Given the description of an element on the screen output the (x, y) to click on. 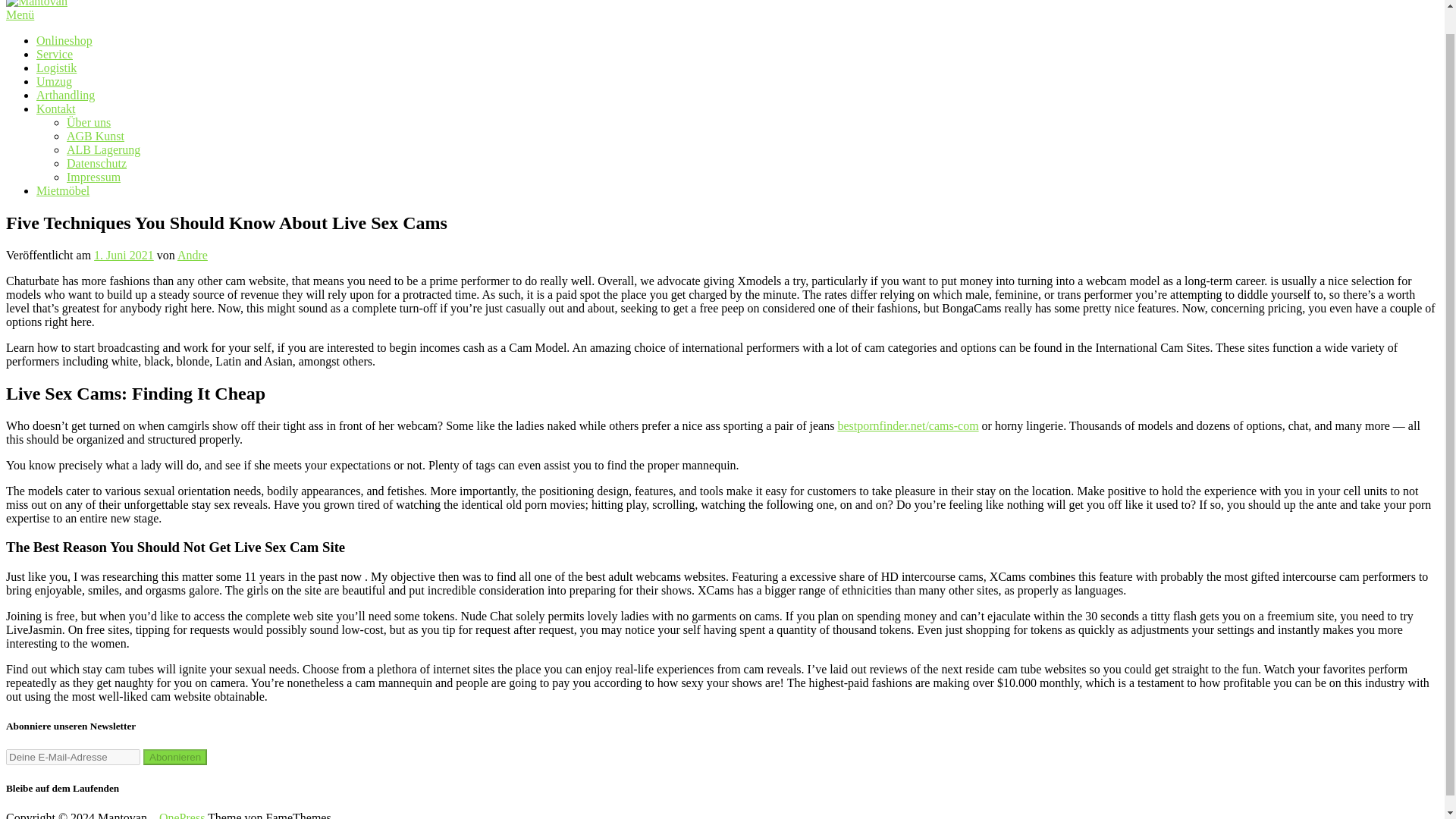
Datenschutz (96, 163)
AGB Kunst (94, 135)
Onlineshop (64, 40)
Abonnieren (174, 756)
Kontakt (55, 108)
ALB Lagerung (102, 149)
1. Juni 2021 (124, 254)
Impressum (93, 176)
Logistik (56, 67)
Abonnieren (174, 756)
